Given the description of an element on the screen output the (x, y) to click on. 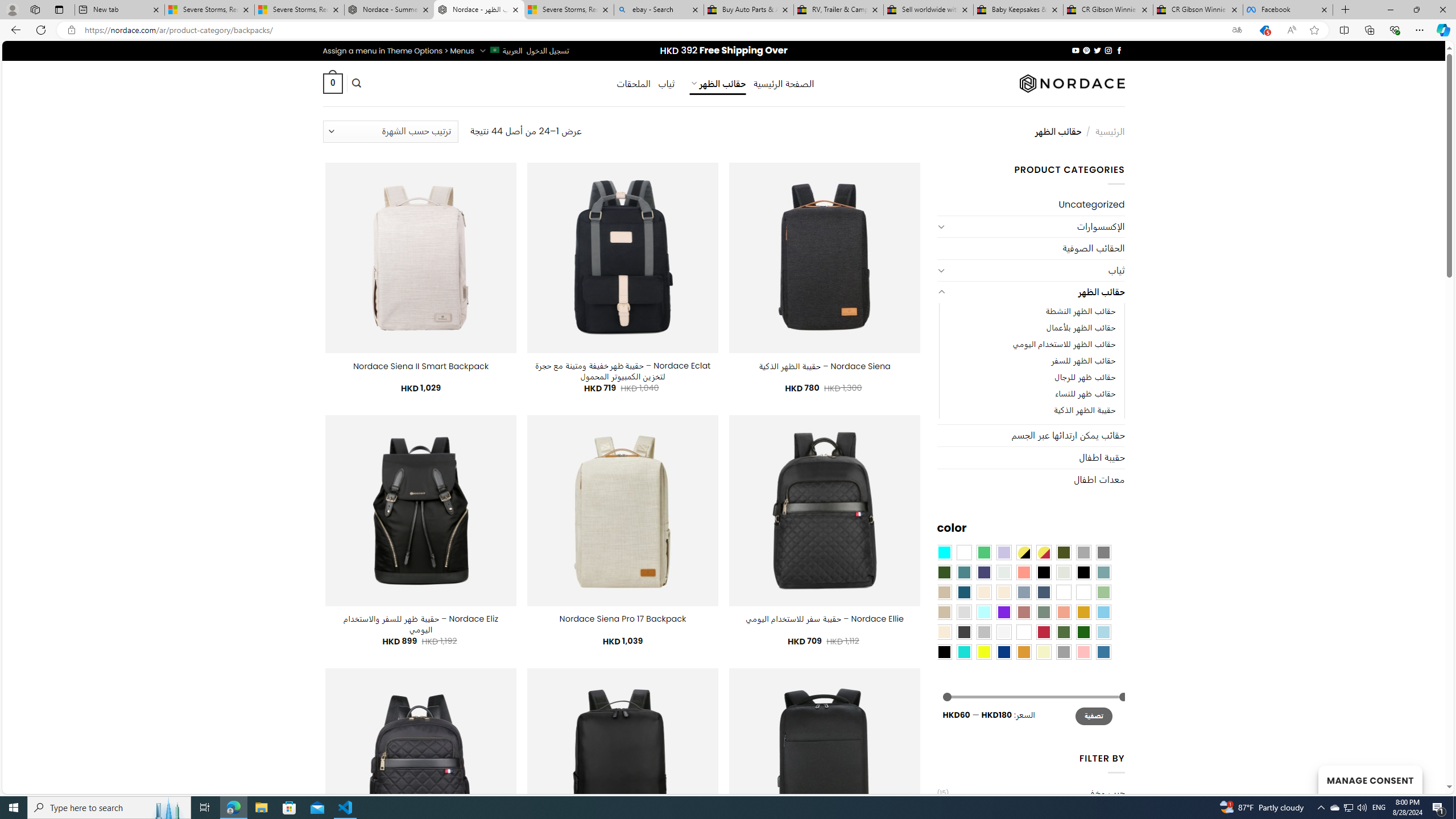
Nordace Siena Pro 17 Backpack (622, 618)
Ash Gray (1063, 572)
Yellow-Black (1023, 551)
ebay - Search (658, 9)
Blue Sage (1103, 572)
Assign a menu in Theme Options > Menus (397, 50)
